Given the description of an element on the screen output the (x, y) to click on. 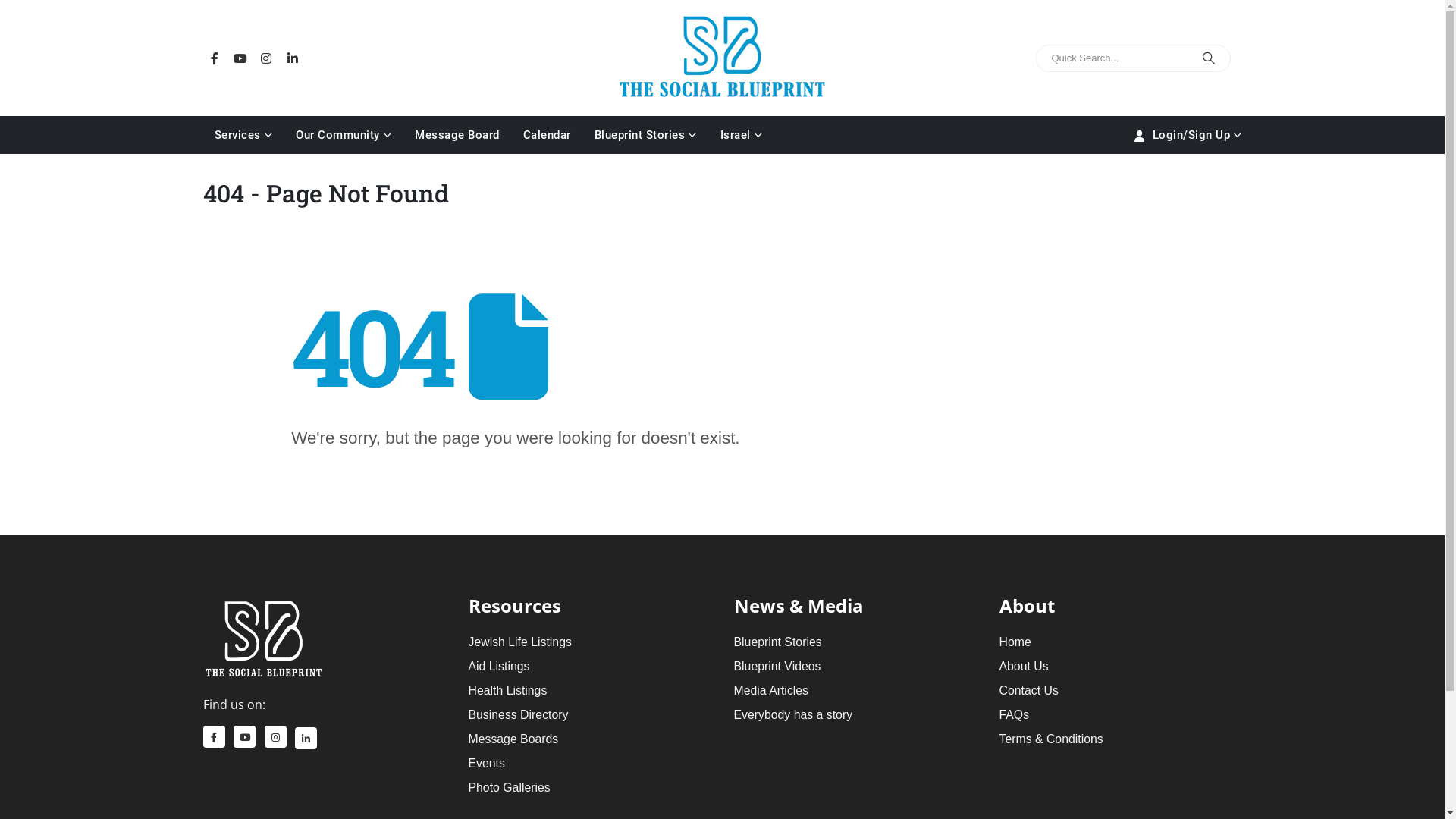
LinkedIn Element type: hover (292, 57)
Our Community Element type: text (343, 134)
Media Articles Element type: text (771, 690)
Instagram Element type: hover (275, 736)
The Social Blueprint - Community's Resource Guide Element type: hover (721, 55)
Blueprint Videos Element type: text (777, 665)
Blueprint Stories Element type: text (644, 134)
Israel Element type: text (740, 134)
Facebook Element type: hover (214, 736)
Jewish Life Listings Element type: text (519, 641)
Login/Sign Up Element type: text (1186, 134)
Terms & Conditions Element type: text (1051, 738)
Calendar Element type: text (546, 134)
Youtube Element type: hover (244, 736)
Blueprint Stories Element type: text (778, 641)
Health Listings Element type: text (507, 690)
Home Element type: text (1015, 641)
Everybody has a story Element type: text (793, 714)
Aid Listings Element type: text (499, 665)
Youtube Element type: hover (240, 57)
About Us Element type: text (1023, 665)
Search Element type: hover (1208, 58)
Message Board Element type: text (457, 134)
Message Boards Element type: text (513, 738)
Events Element type: text (486, 762)
FAQs Element type: text (1014, 714)
Services Element type: text (243, 134)
Contact Us Element type: text (1028, 690)
Business Directory Element type: text (518, 714)
Facebook Element type: hover (213, 57)
Photo Galleries Element type: text (509, 787)
LinkedIn Element type: hover (305, 738)
Instagram Element type: hover (265, 57)
